Given the description of an element on the screen output the (x, y) to click on. 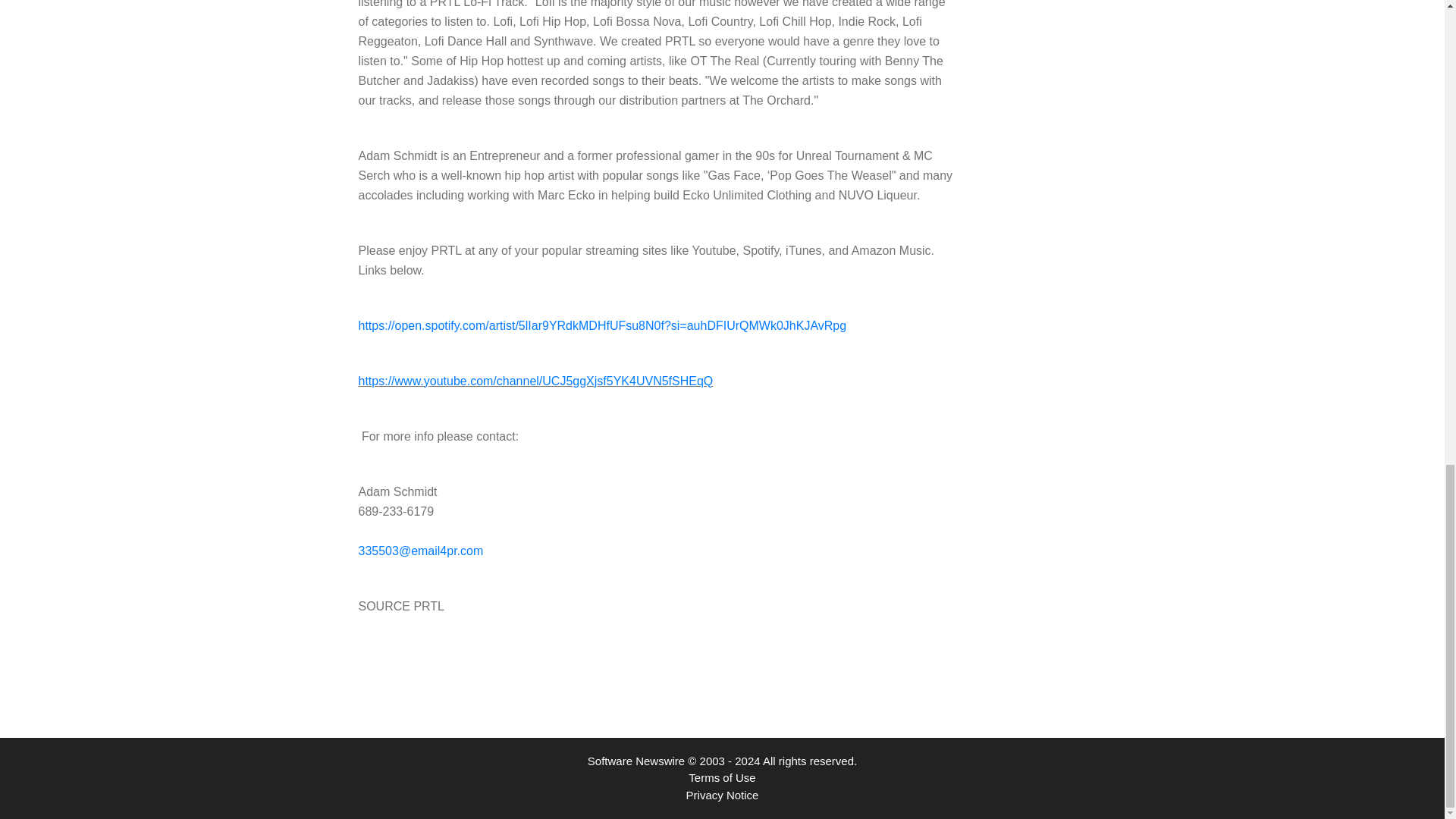
Terms of Use (721, 777)
Privacy Notice (721, 793)
